Given the description of an element on the screen output the (x, y) to click on. 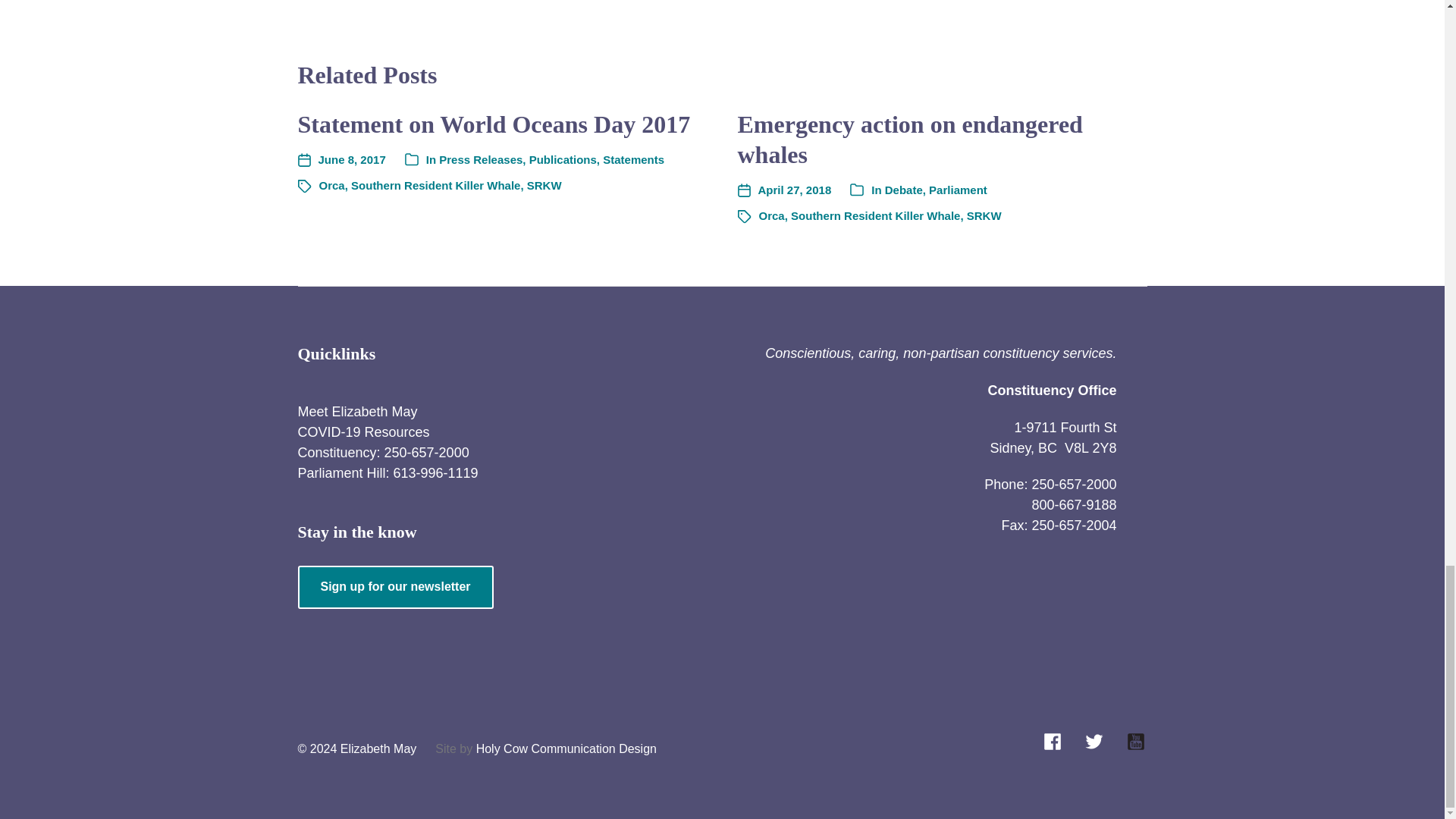
newsletter sign up link (395, 587)
